Given the description of an element on the screen output the (x, y) to click on. 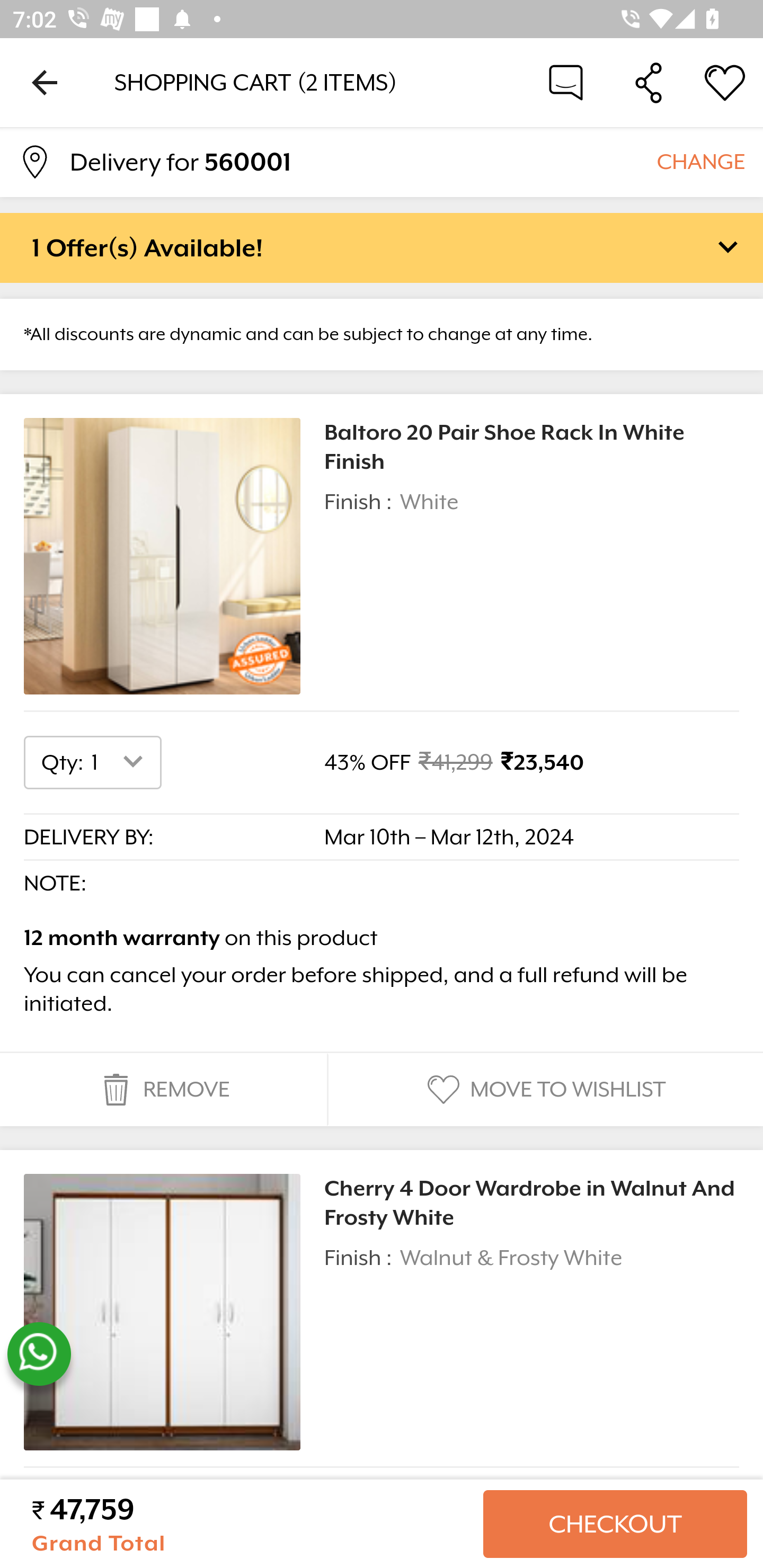
Navigate up (44, 82)
Chat (565, 81)
Share Cart (648, 81)
Wishlist (724, 81)
CHANGE (700, 161)
1 Offer(s) Available! (381, 247)
1 (121, 761)
REMOVE (163, 1089)
MOVE TO WISHLIST (544, 1089)
whatsapp (38, 1353)
₹ 47,759 Grand Total (250, 1523)
CHECKOUT (614, 1523)
